Given the description of an element on the screen output the (x, y) to click on. 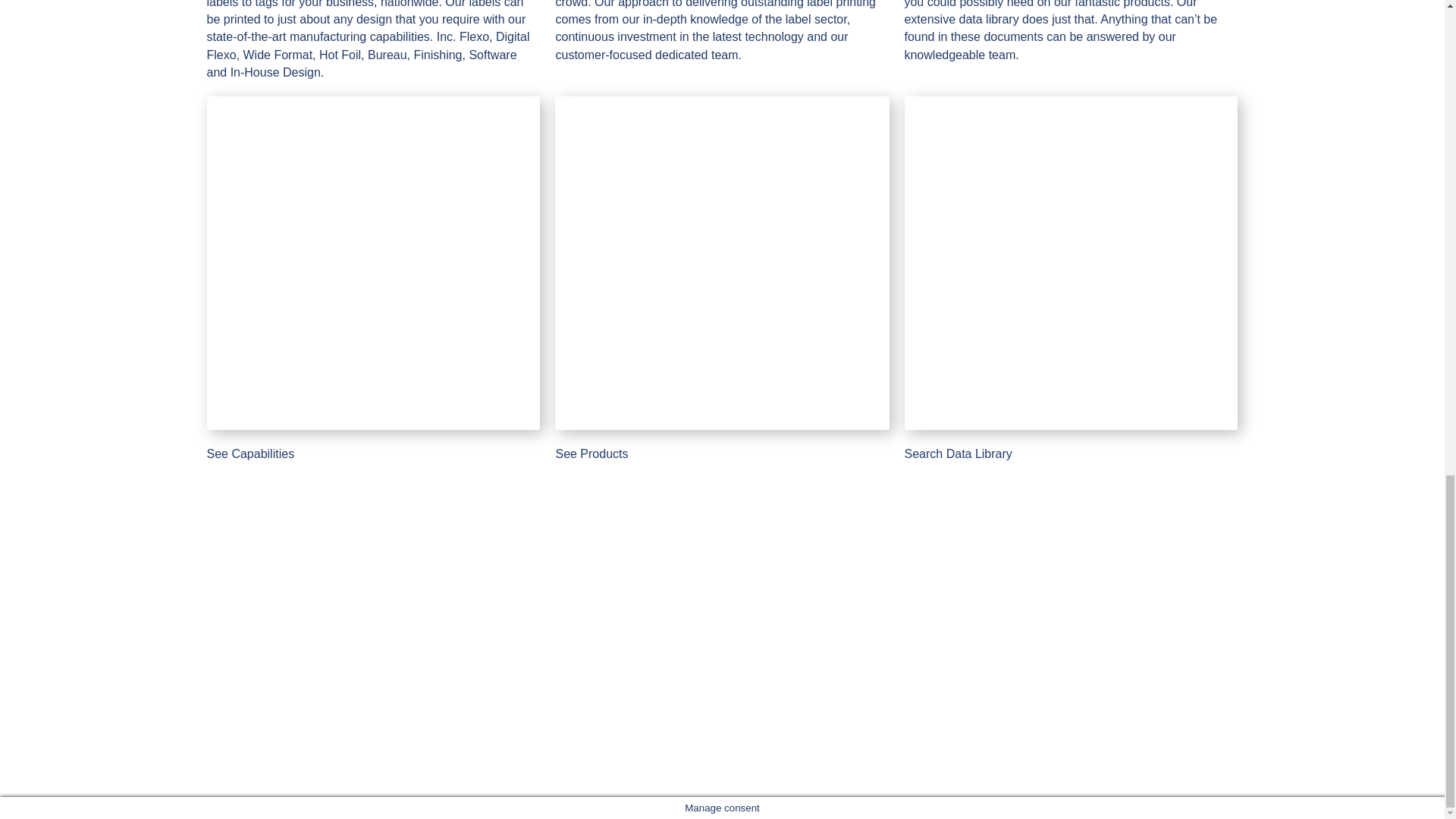
Web Design and Development West Midlands (1205, 774)
Data Library (447, 701)
See Capabilities (250, 453)
Printer (373, 262)
The Label Centre Footer Logo (270, 688)
Products (438, 684)
Rolls (721, 262)
Our Capabilites (456, 666)
Home Page Logos 01 (1140, 662)
Search Data Library (957, 453)
